Given the description of an element on the screen output the (x, y) to click on. 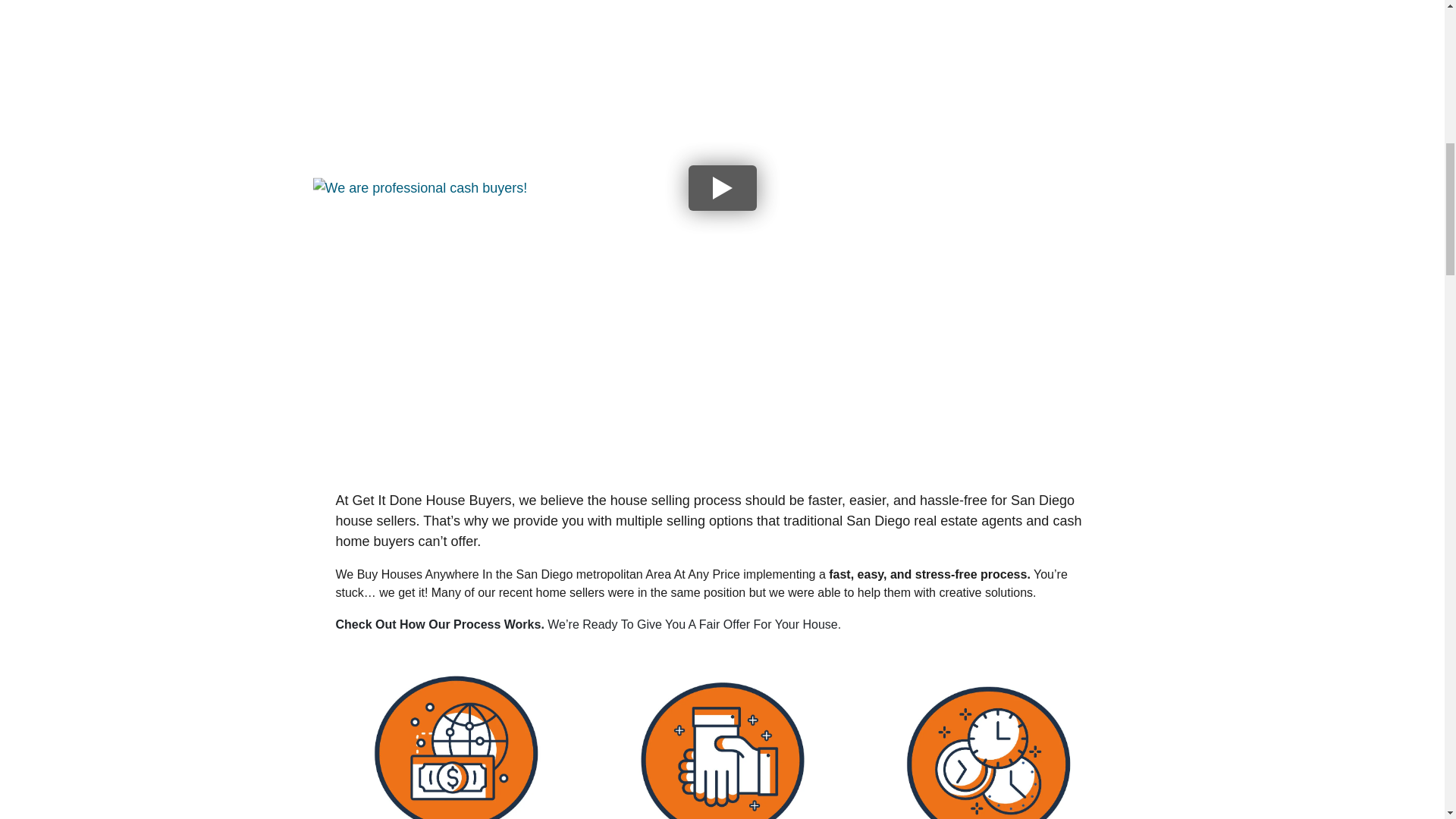
Check Out How Our Process Works (437, 624)
